Given the description of an element on the screen output the (x, y) to click on. 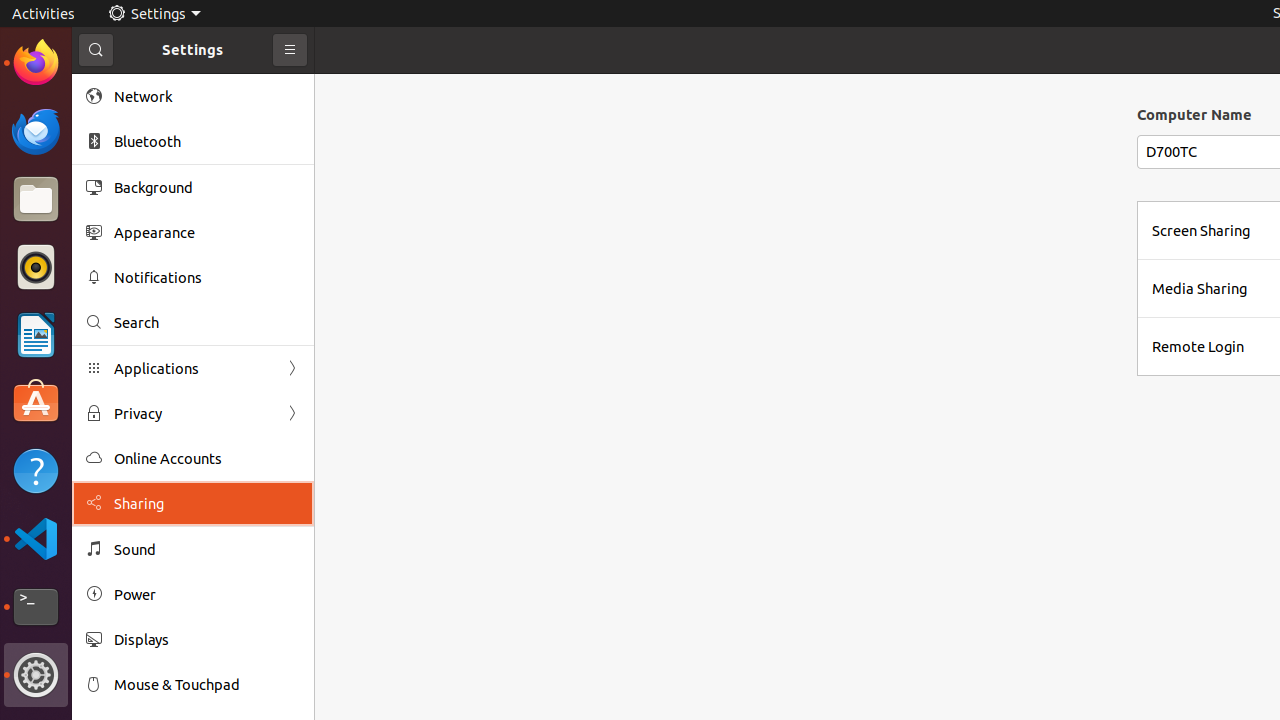
Notifications Element type: label (207, 277)
Mouse & Touchpad Element type: label (207, 684)
Background Element type: label (207, 187)
Search Element type: label (207, 322)
